Given the description of an element on the screen output the (x, y) to click on. 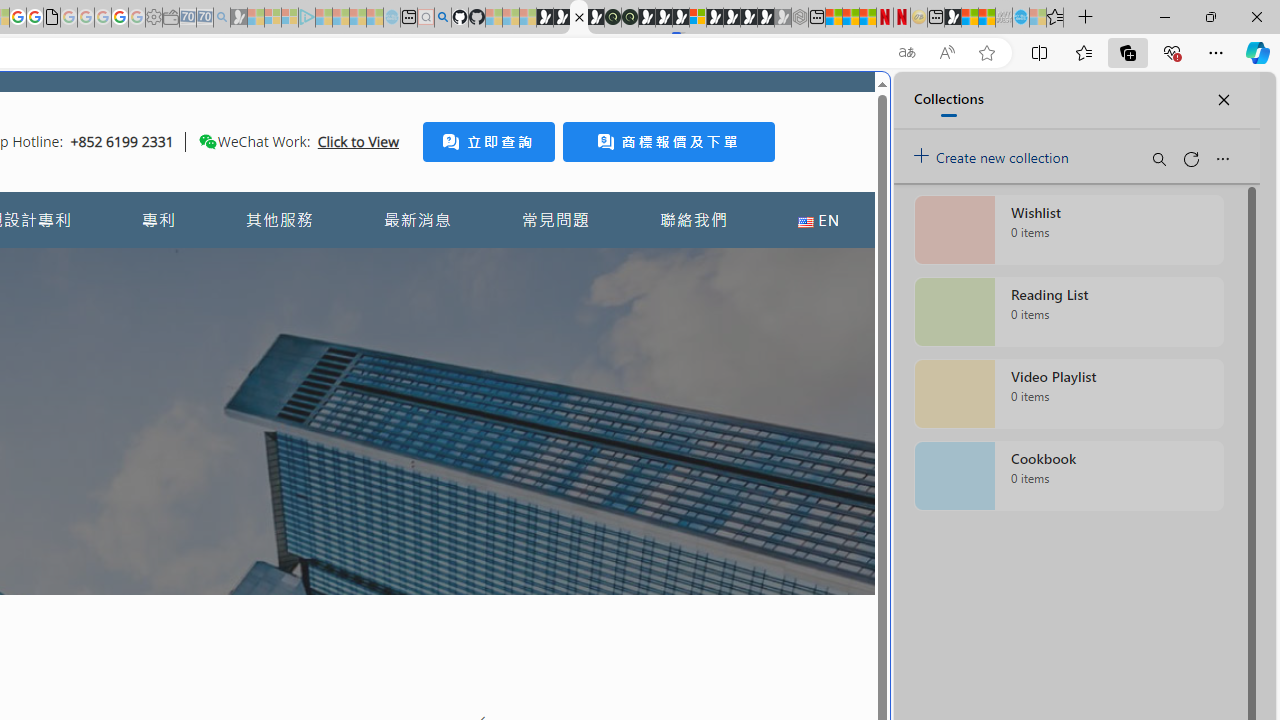
Settings - Sleeping (153, 17)
github - Search (442, 17)
Show translate options (906, 53)
Play Cave FRVR in your browser | Games from Microsoft Start (663, 17)
Services - Maintenance | Sky Blue Bikes - Sky Blue Bikes (1020, 17)
Search or enter web address (343, 191)
